Given the description of an element on the screen output the (x, y) to click on. 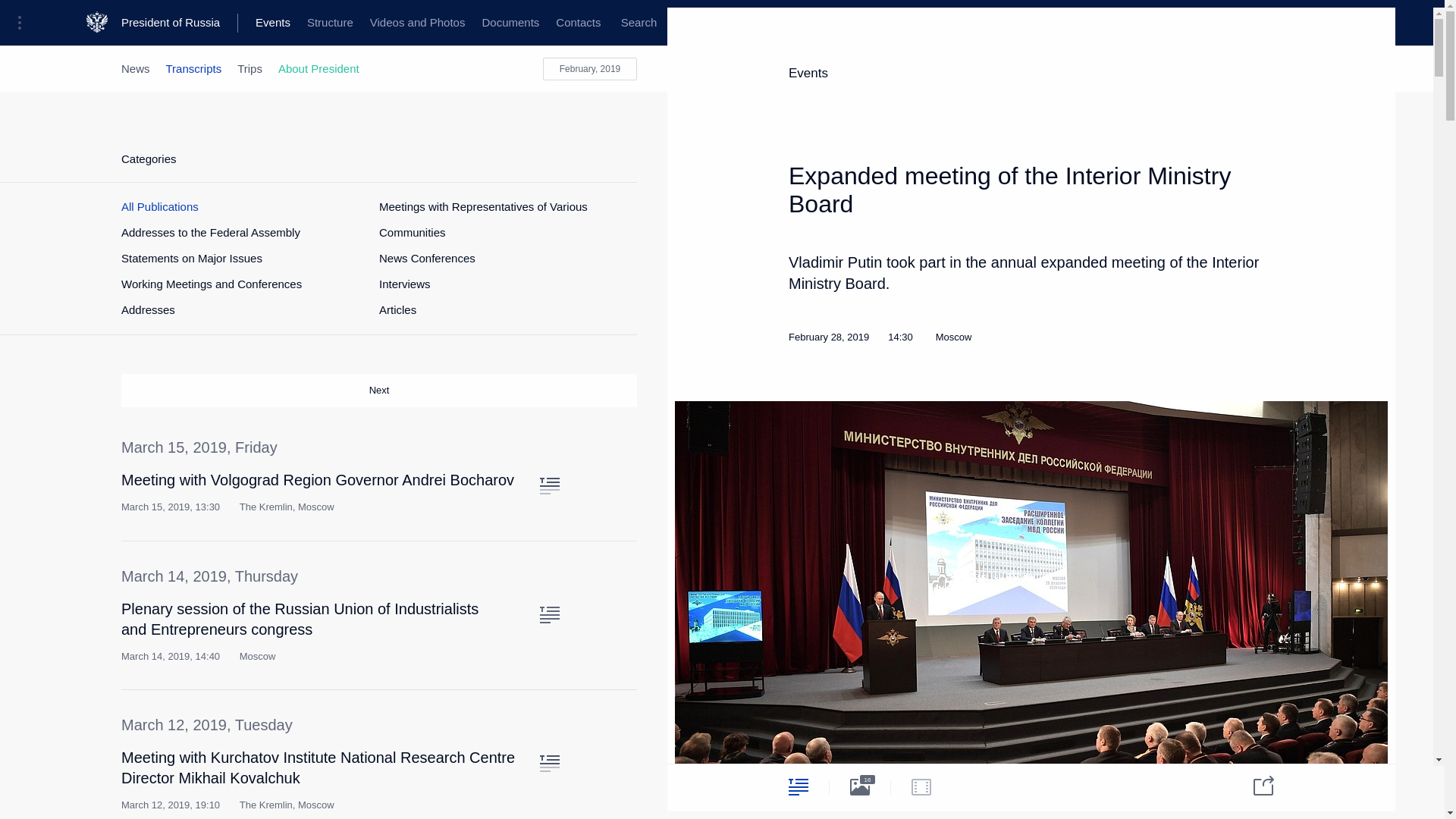
News Conferences (427, 258)
Next (378, 390)
Commissions and Councils (596, 22)
Articles (397, 309)
Transcripts (194, 68)
Events (272, 22)
Structure (329, 22)
Text of the article (549, 763)
President of Russia (179, 22)
Interviews (404, 284)
Presidential Executive Office (257, 22)
Statements on Major Issues (191, 258)
Text of the article (549, 485)
